Given the description of an element on the screen output the (x, y) to click on. 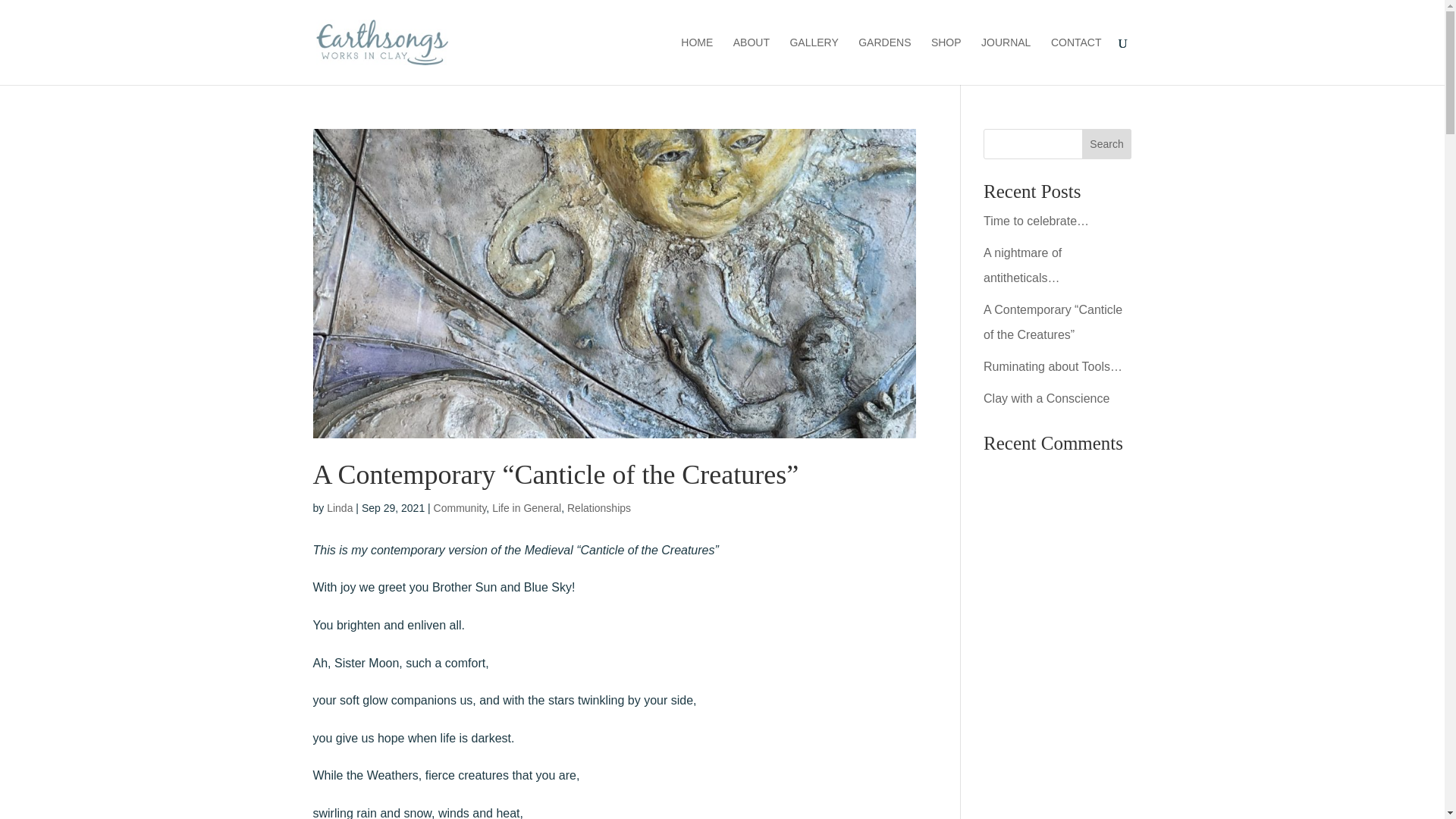
Life in General (526, 508)
Community (459, 508)
Relationships (598, 508)
Search (1106, 143)
Posts by Linda (339, 508)
CONTACT (1076, 60)
JOURNAL (1005, 60)
ABOUT (751, 60)
Search (1106, 143)
GARDENS (885, 60)
Linda (339, 508)
GALLERY (813, 60)
HOME (697, 60)
SHOP (945, 60)
